Given the description of an element on the screen output the (x, y) to click on. 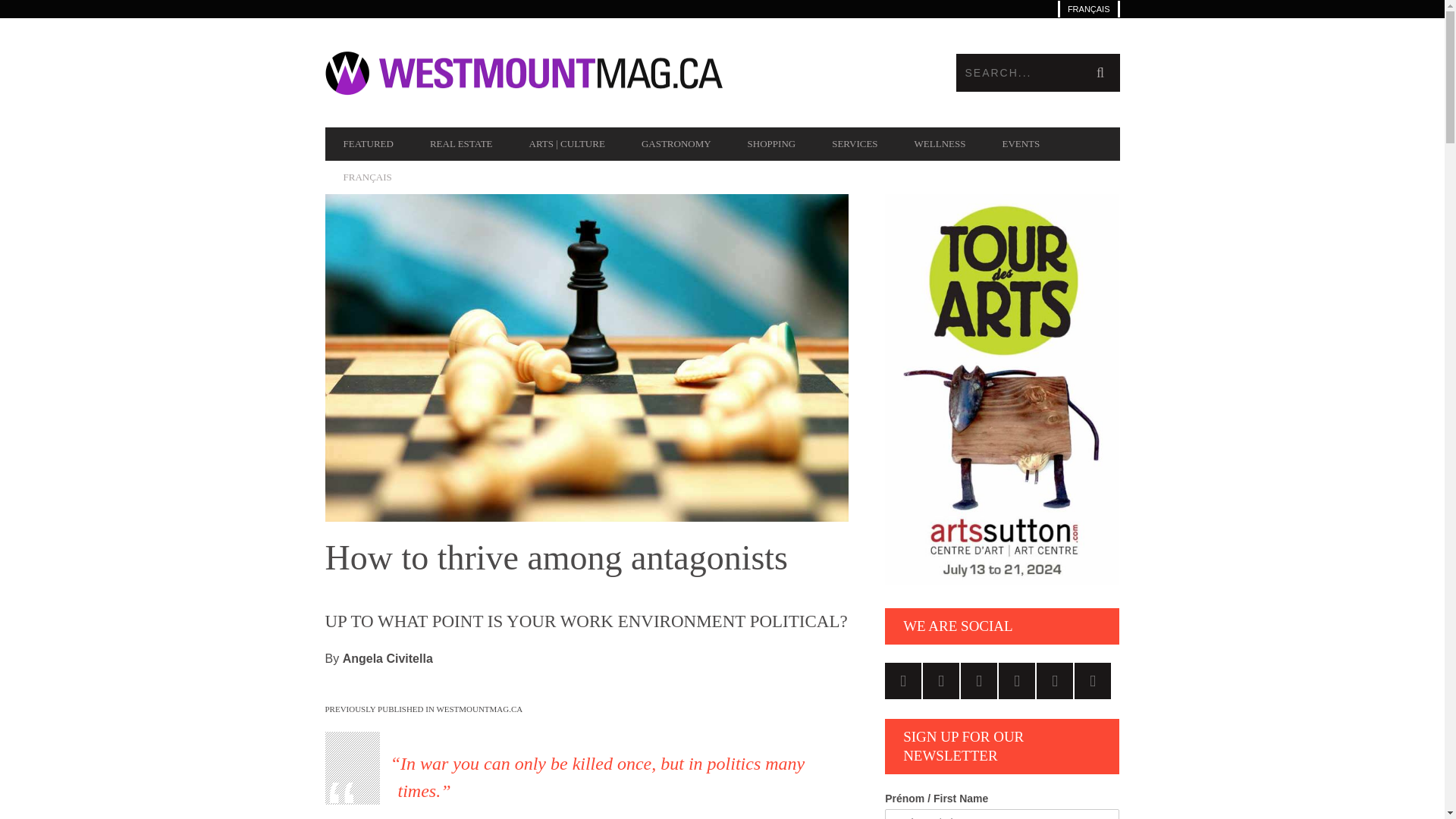
Westmount Magazine (523, 73)
